Given the description of an element on the screen output the (x, y) to click on. 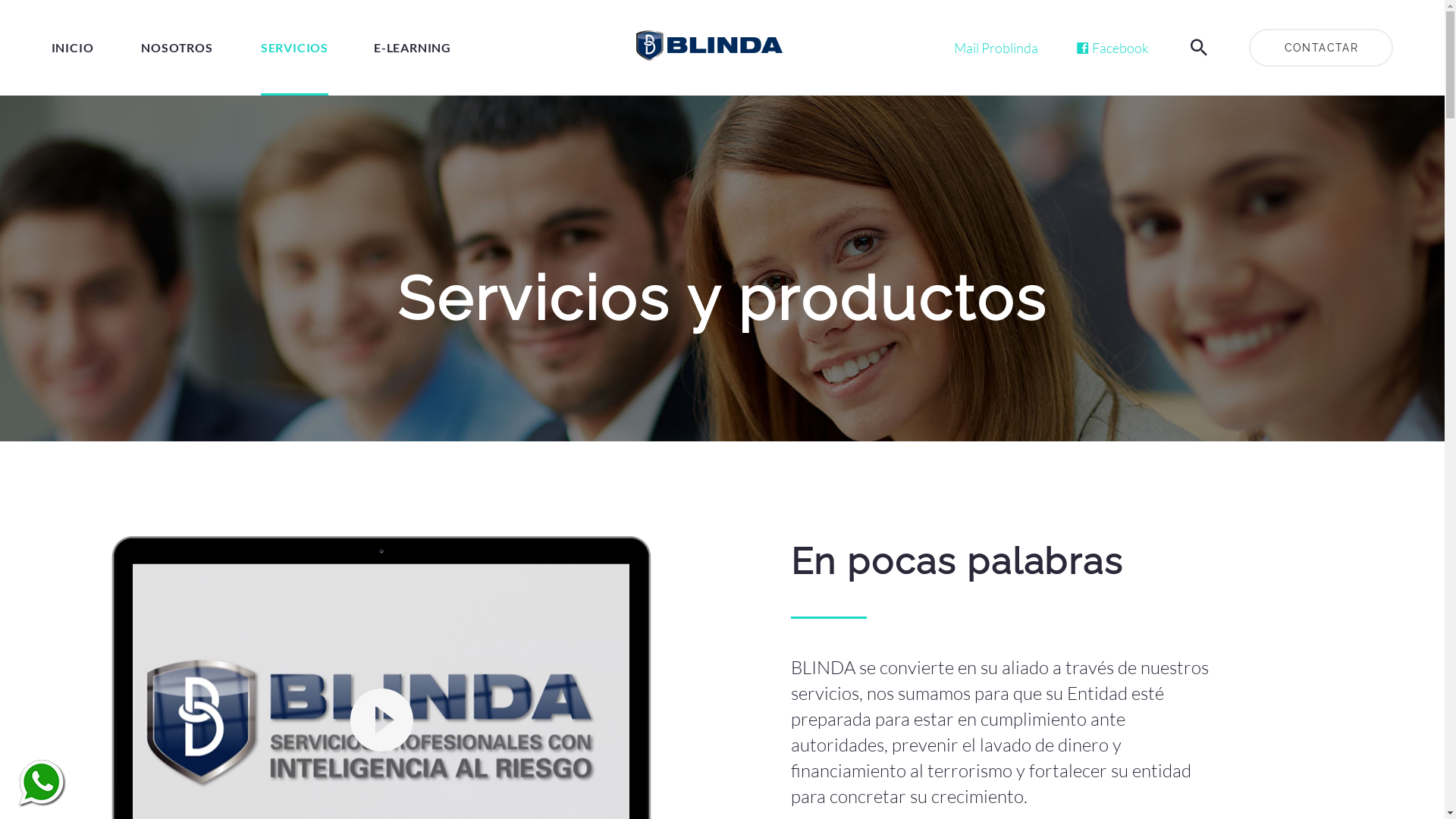
INICIO Element type: text (72, 47)
Facebook Element type: text (1112, 47)
NOSOTROS Element type: text (176, 47)
E-LEARNING Element type: text (412, 47)
SERVICIOS Element type: text (294, 47)
CONTACTAR Element type: text (1320, 47)
Mail Problinda Element type: text (995, 47)
